Given the description of an element on the screen output the (x, y) to click on. 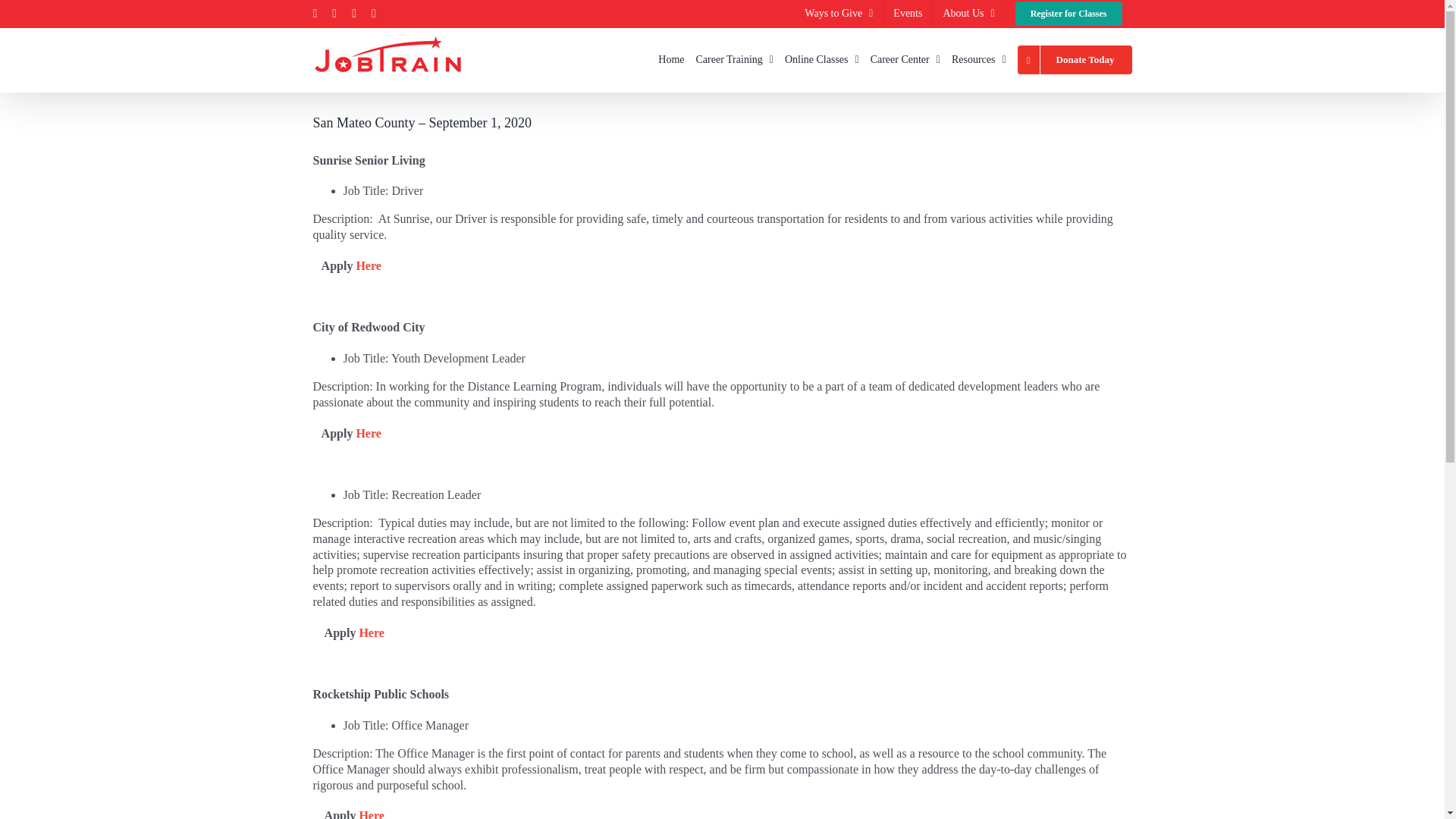
Ways to Give (838, 13)
About Us (968, 13)
Career Training (734, 59)
Online Classes (821, 59)
Register for Classes (1069, 13)
Career Center (905, 59)
Events (907, 13)
